Given the description of an element on the screen output the (x, y) to click on. 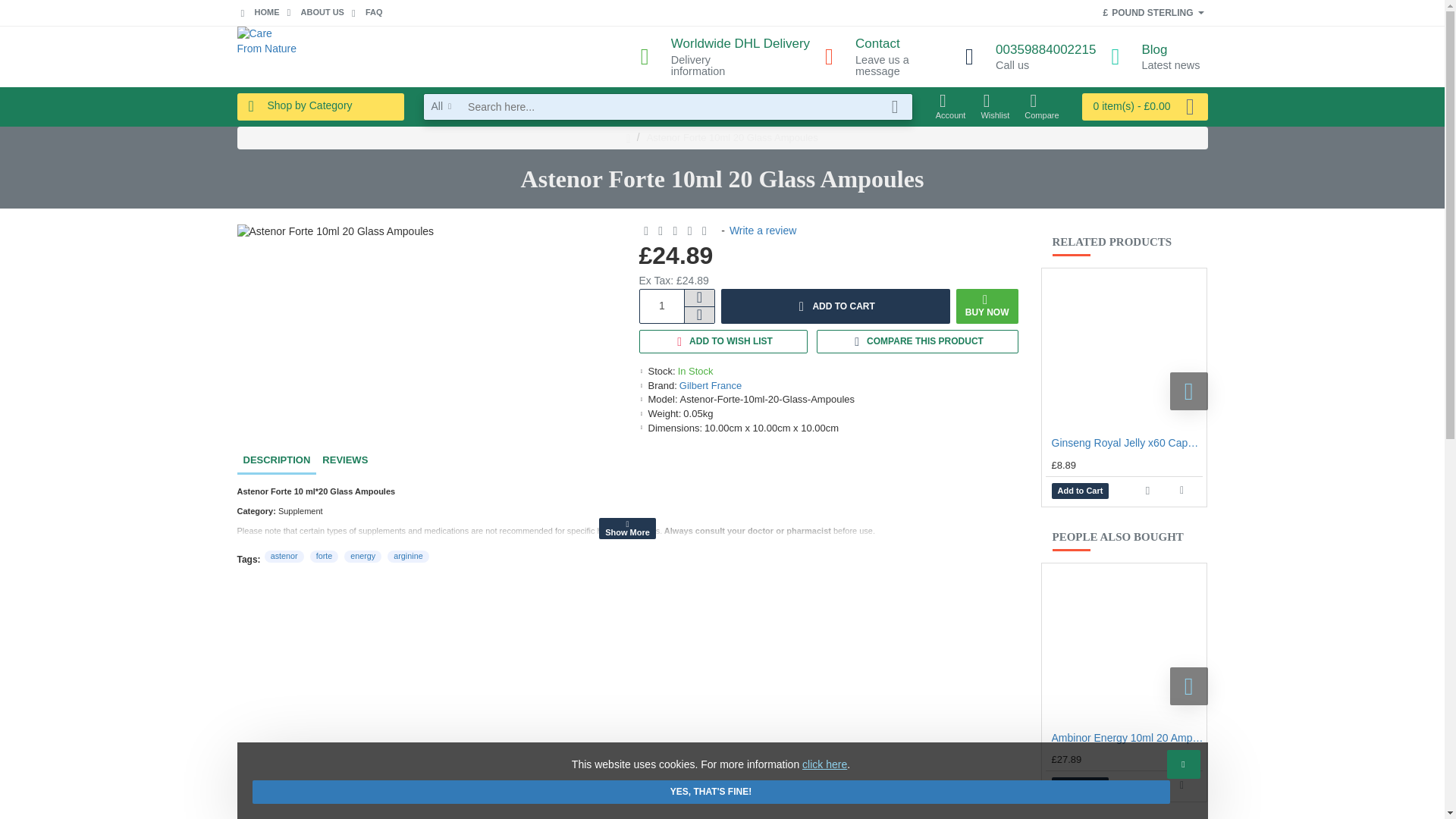
1 (662, 305)
View Cart (1144, 106)
Care From Nature (266, 56)
Shop by Category (319, 106)
Ginseng Royal Jelly x60 Capsules (887, 56)
FAQ (724, 56)
Astenor Forte 10ml 20 Glass Ampoules (1123, 350)
HOME (1155, 57)
click here (367, 13)
YES, THAT'S FINE! (335, 231)
ABOUT US (1030, 57)
